Given the description of an element on the screen output the (x, y) to click on. 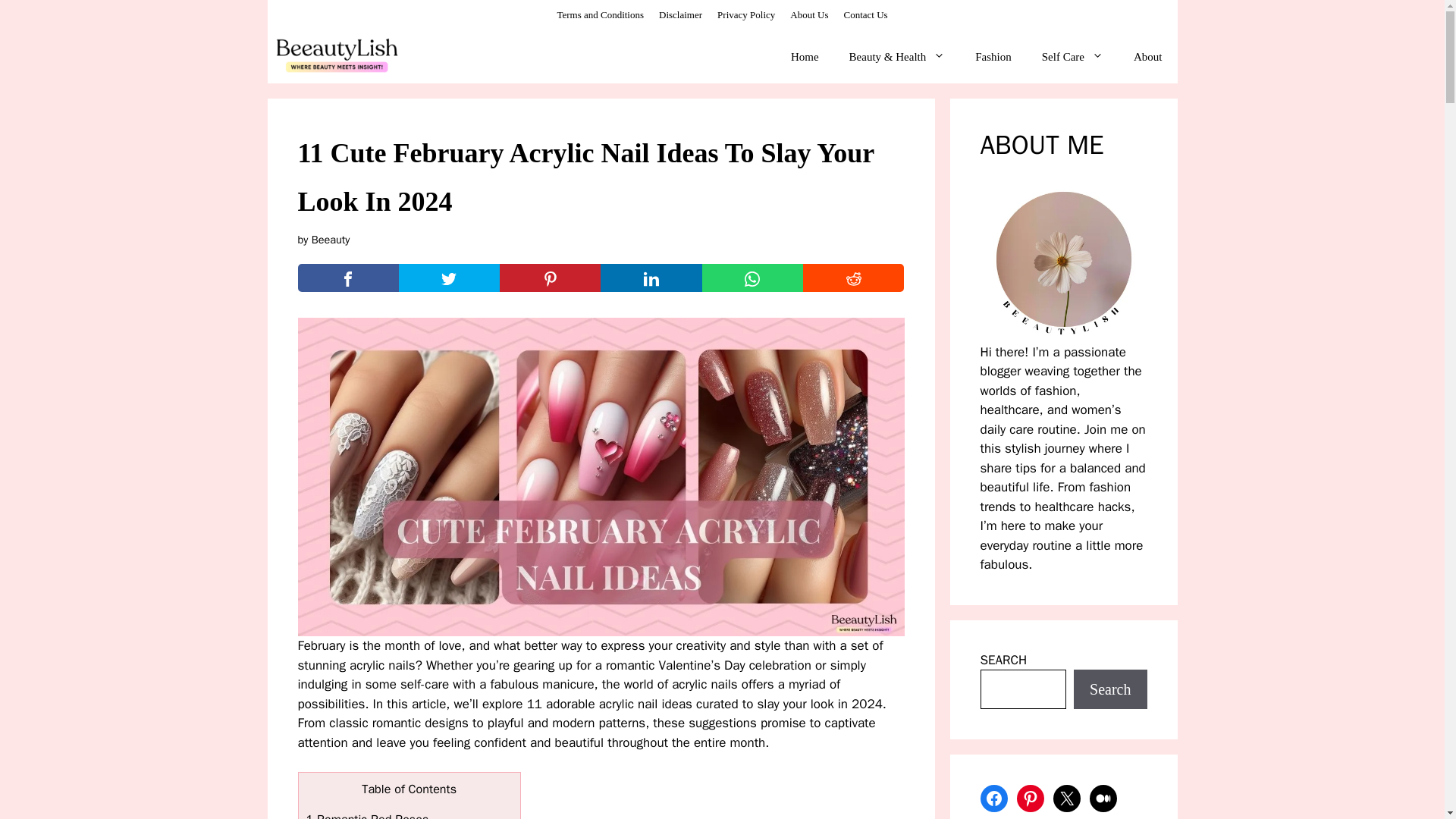
1 Romantic Red Roses (367, 815)
Self Care (1072, 55)
Beeauty (330, 239)
Fashion (992, 55)
Contact Us (864, 14)
Home (805, 55)
acrylic nail (630, 703)
Disclaimer (680, 14)
BeeautyLish (336, 56)
About Us (809, 14)
Terms and Conditions (599, 14)
Privacy Policy (745, 14)
About (1147, 55)
View all posts by Beeauty (330, 239)
